Given the description of an element on the screen output the (x, y) to click on. 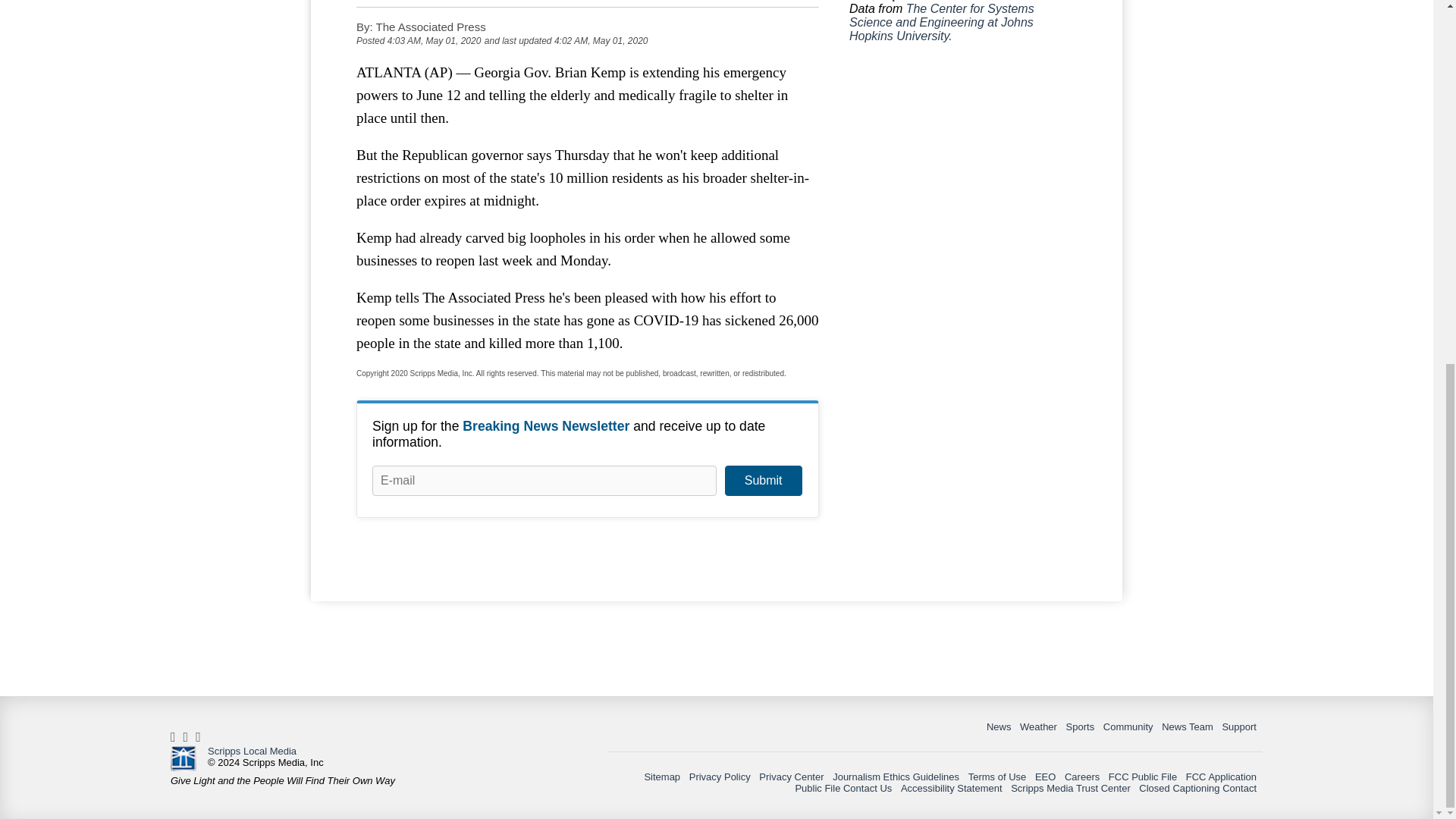
Submit (763, 481)
